Given the description of an element on the screen output the (x, y) to click on. 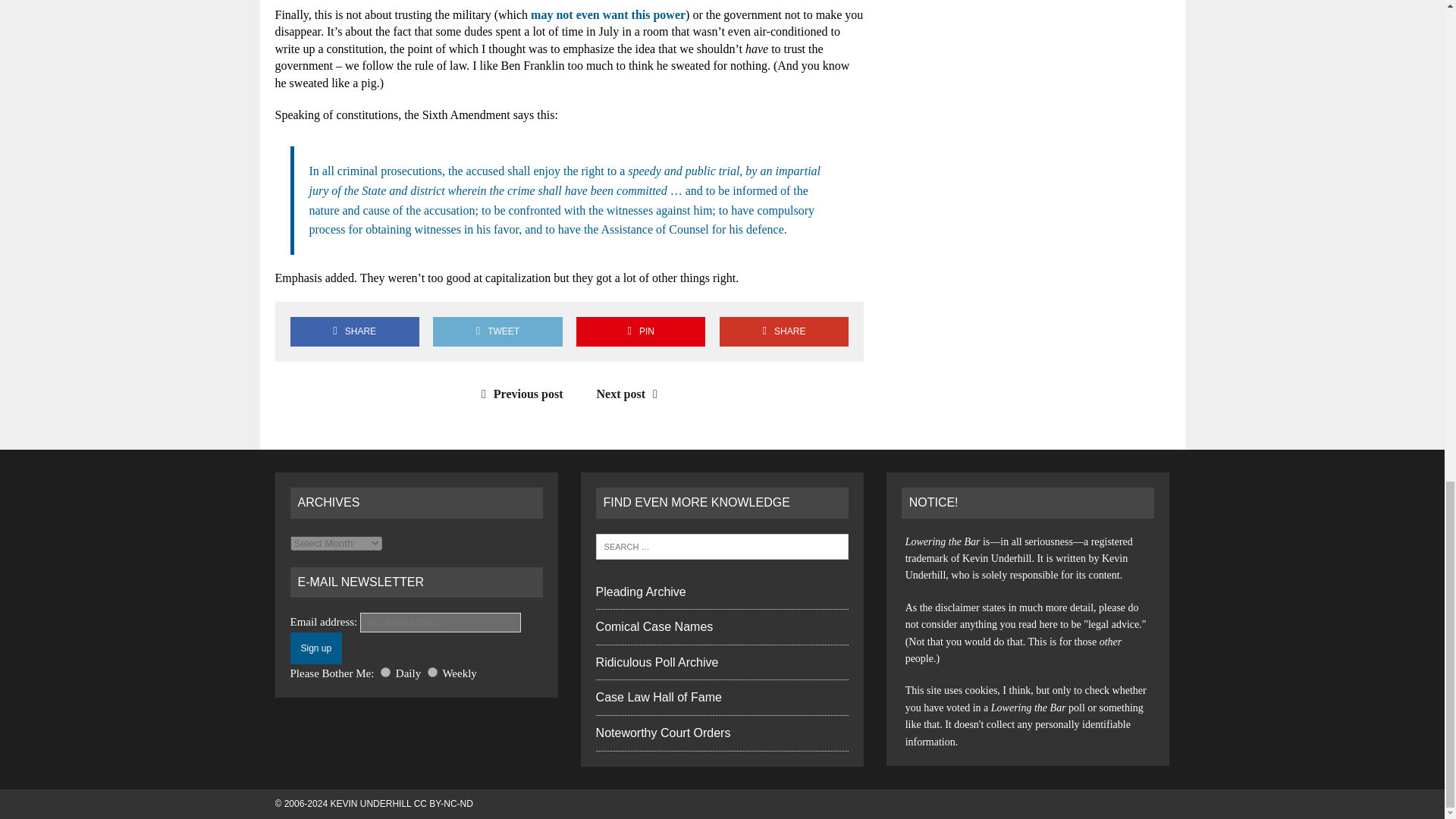
Weekly (433, 672)
Pin This Post (640, 331)
Share on Facebook (354, 331)
Sign up (315, 648)
Daily (385, 672)
Tweet This Post (497, 331)
